Given the description of an element on the screen output the (x, y) to click on. 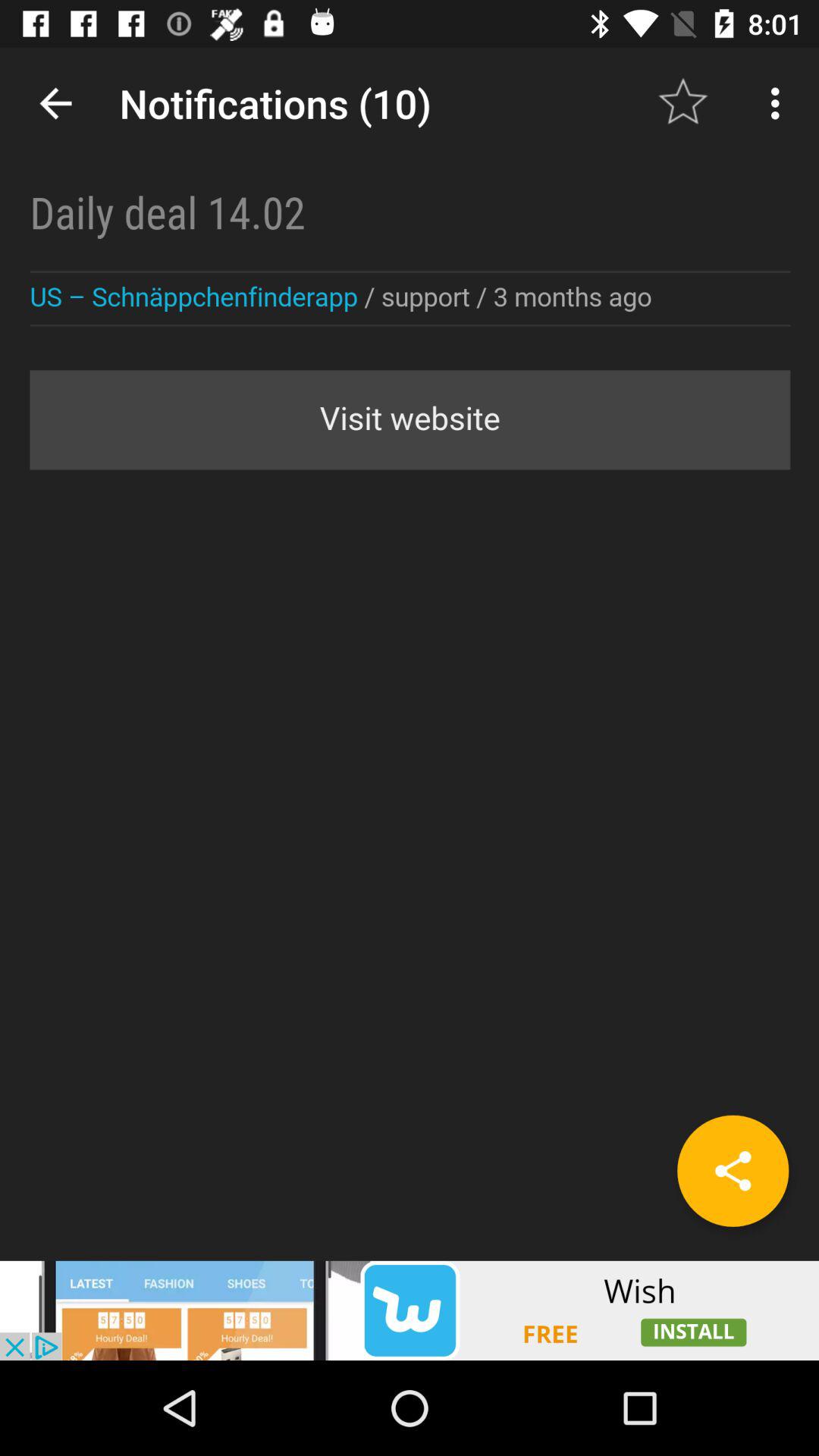
description (409, 653)
